Given the description of an element on the screen output the (x, y) to click on. 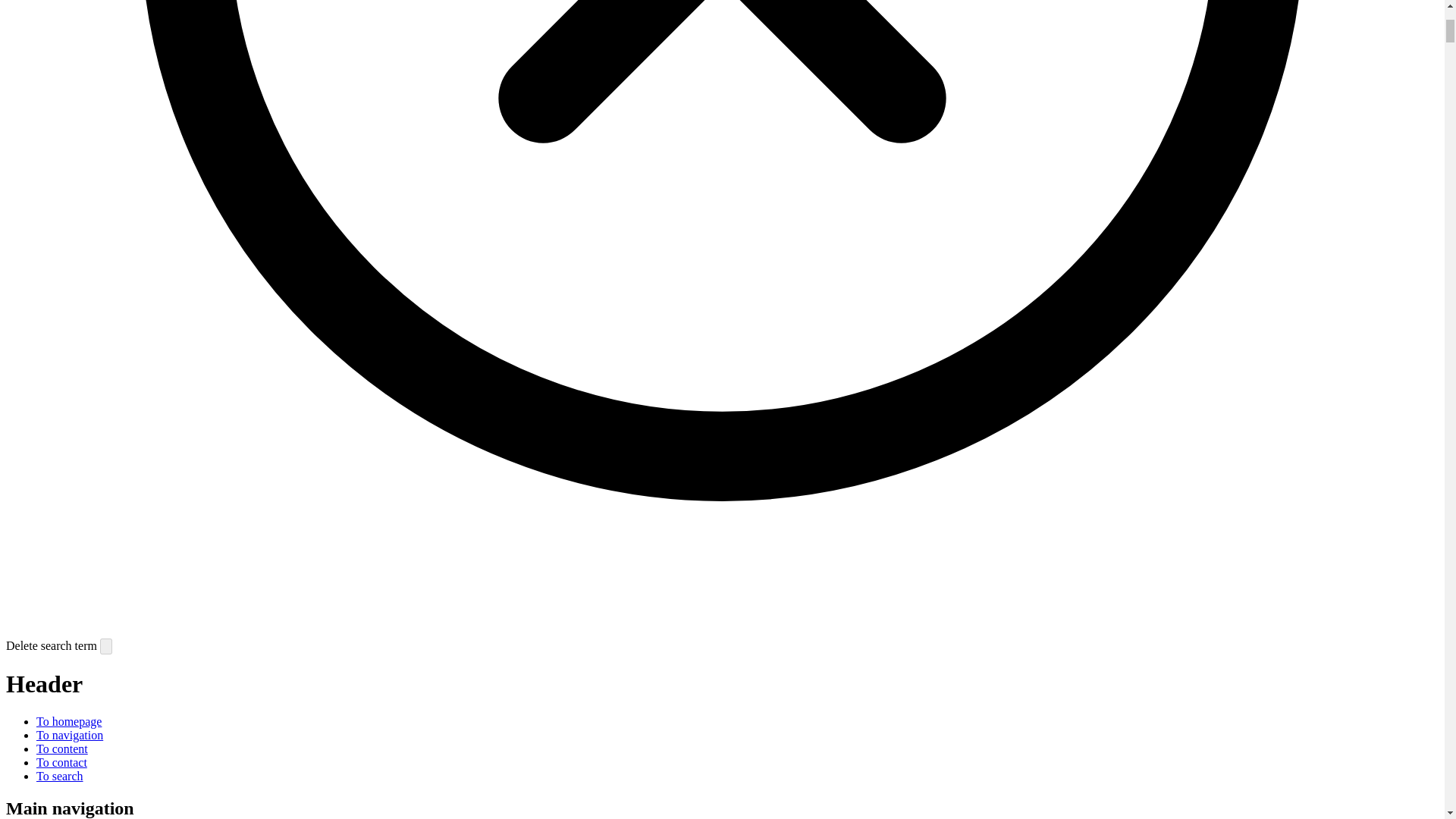
To content (61, 748)
To contact (61, 762)
To navigation (69, 735)
To search (59, 775)
To homepage (68, 721)
